Given the description of an element on the screen output the (x, y) to click on. 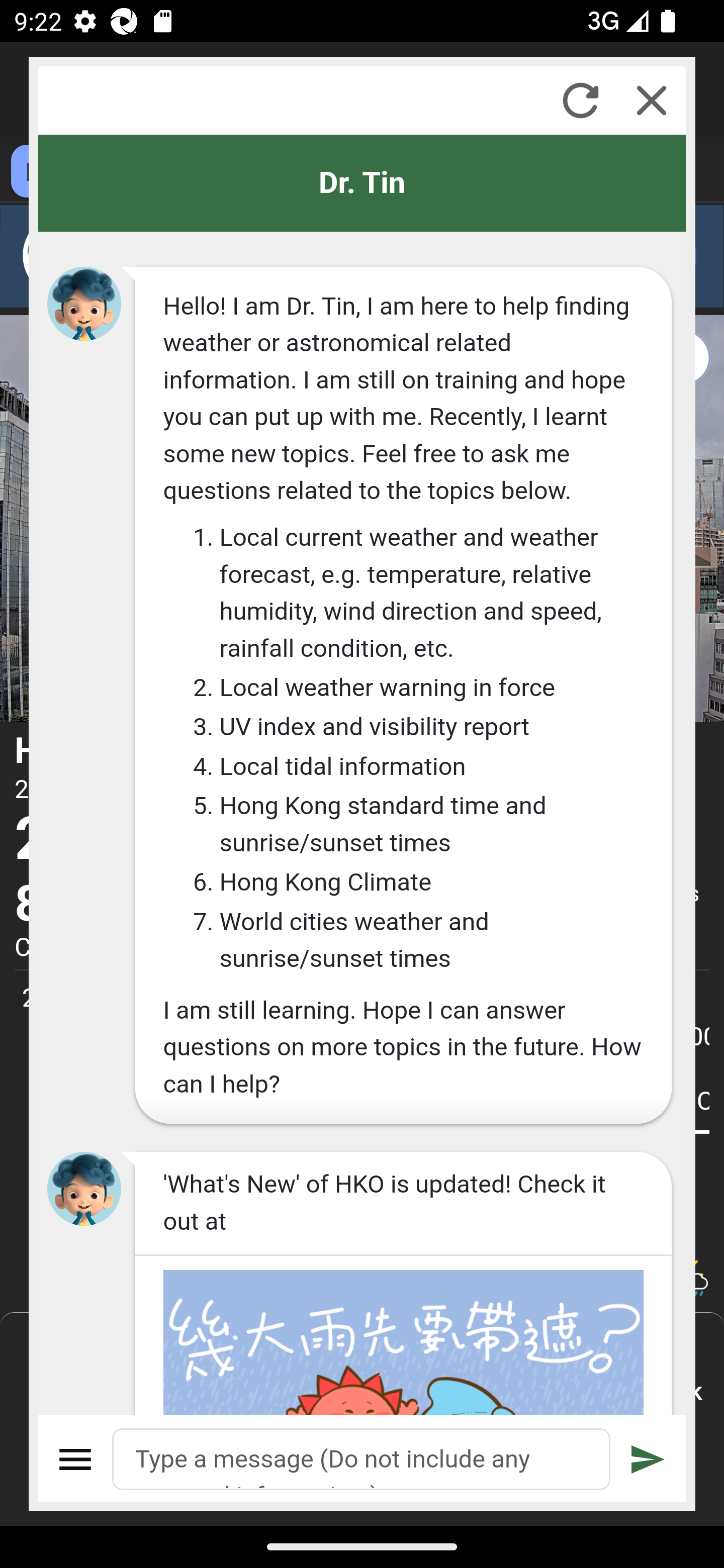
Refresh (580, 100)
Close (651, 100)
Menu (75, 1458)
Submit (648, 1458)
